Given the description of an element on the screen output the (x, y) to click on. 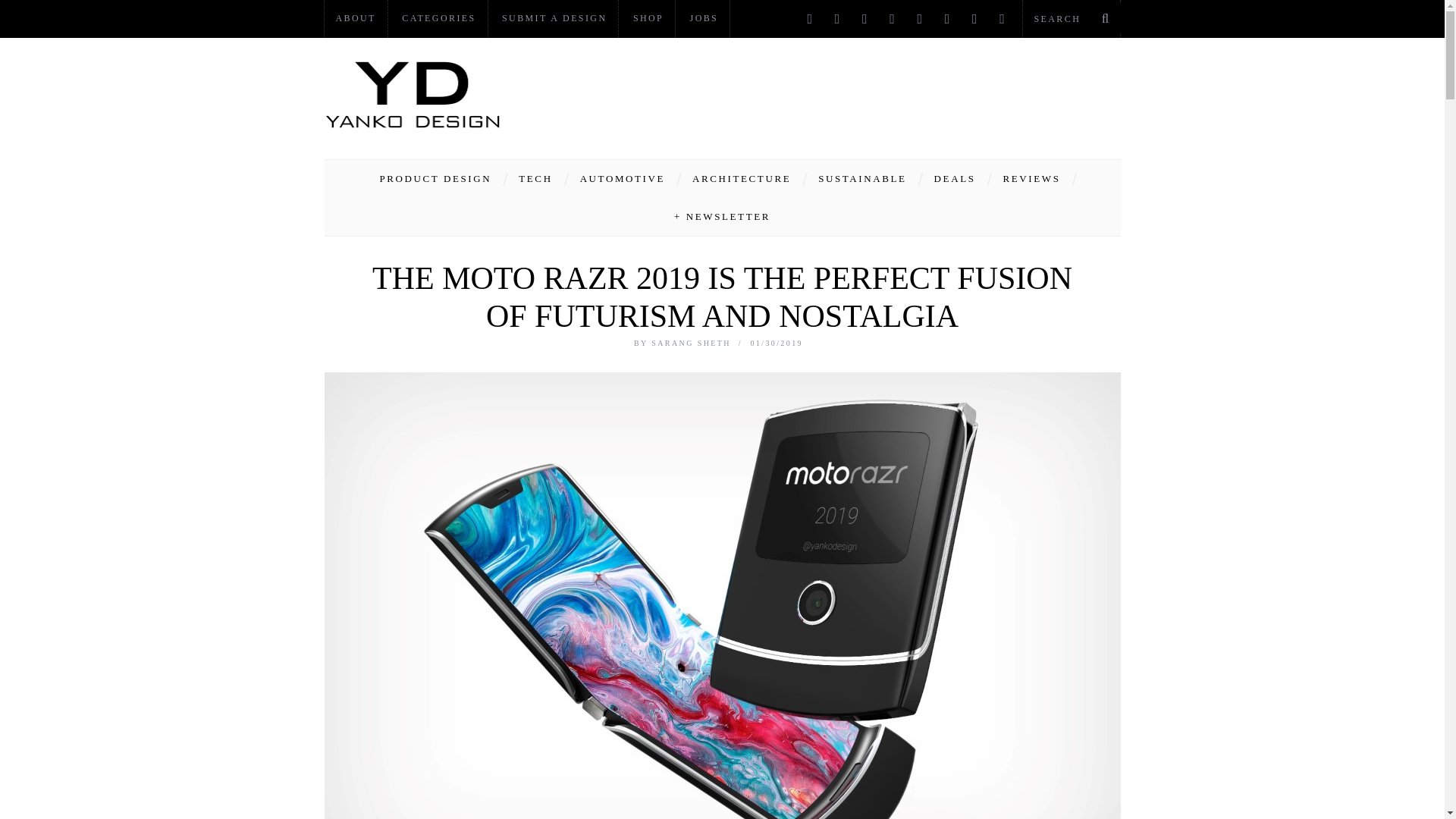
SHOP (648, 18)
ABOUT (355, 18)
JOBS (704, 18)
Search (1071, 18)
CATEGORIES (438, 18)
SUBMIT A DESIGN (553, 18)
